Given the description of an element on the screen output the (x, y) to click on. 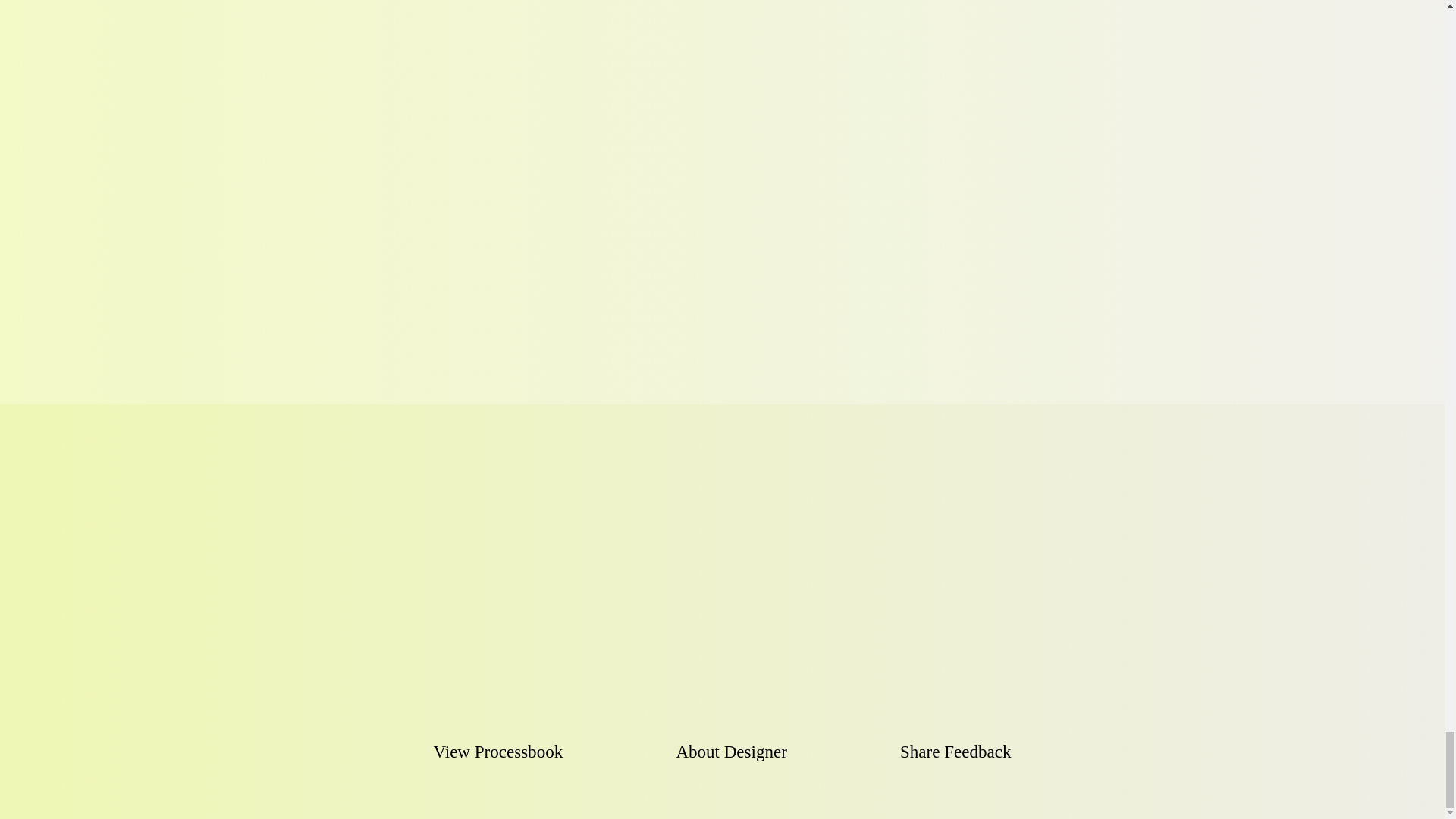
About Designer (730, 780)
Share Feedback (954, 751)
View Processbook (498, 780)
